Given the description of an element on the screen output the (x, y) to click on. 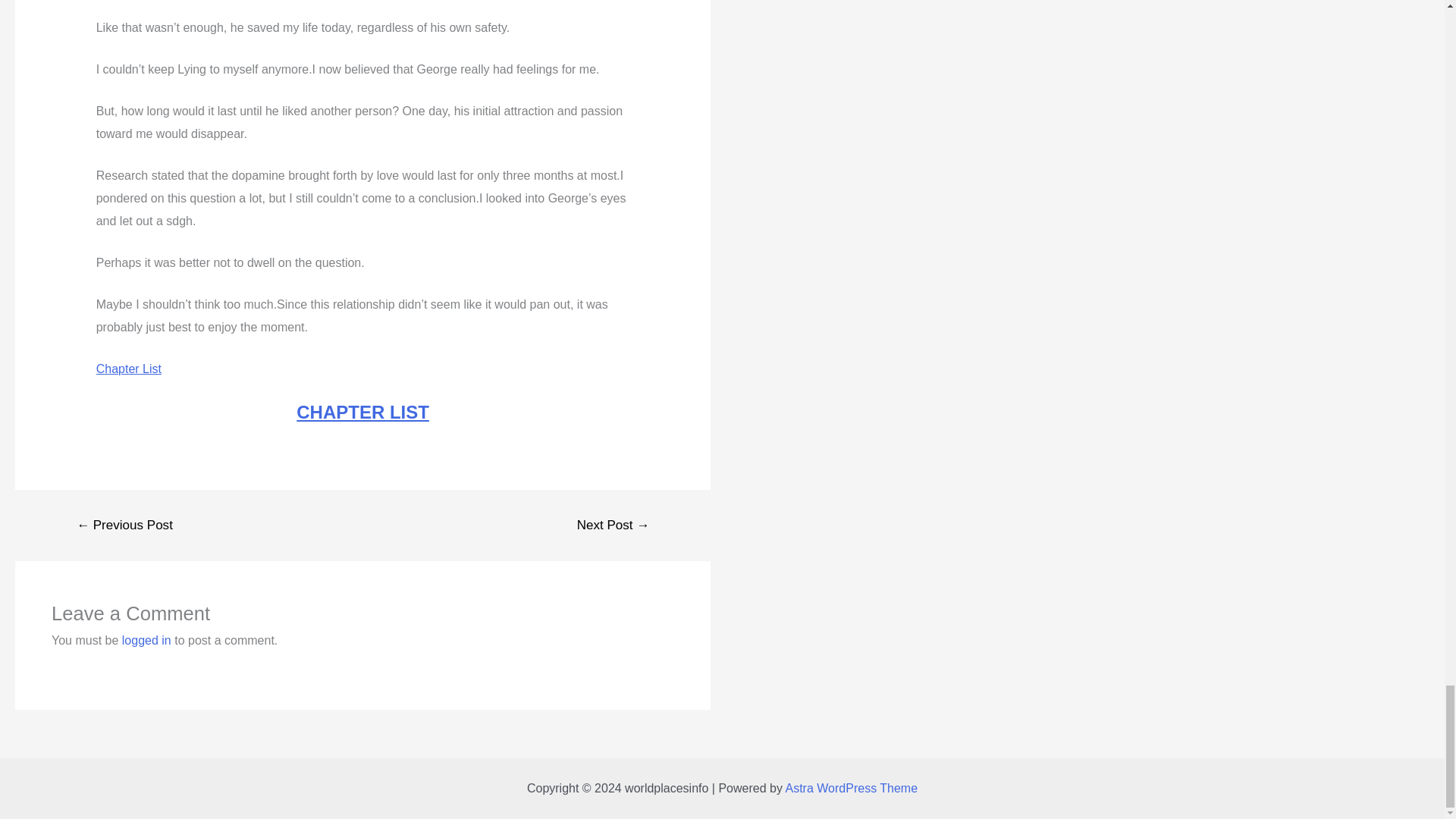
Chapter List (128, 368)
logged in (146, 640)
CHAPTER LIST (363, 412)
